Given the description of an element on the screen output the (x, y) to click on. 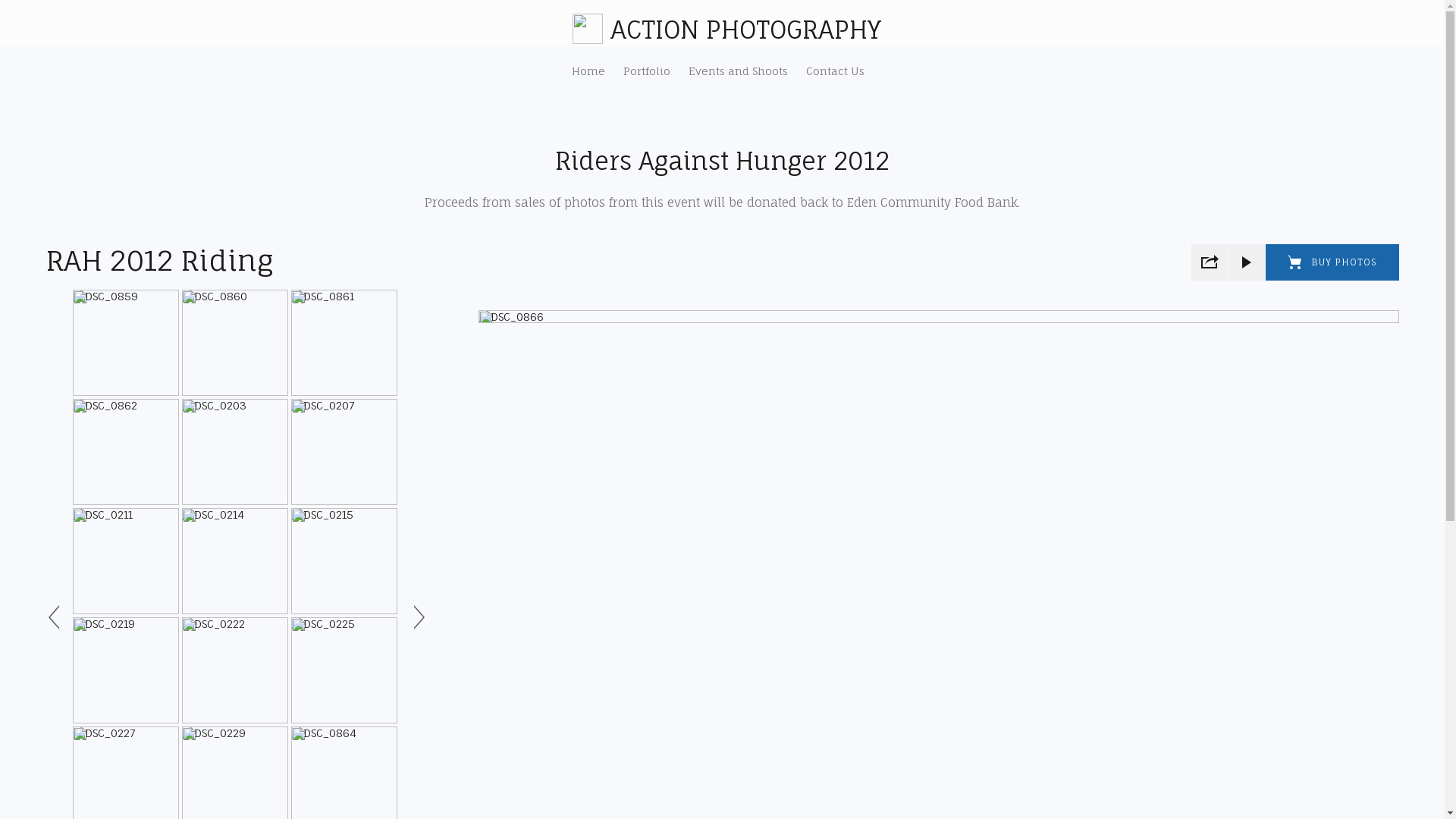
Contact Us Element type: text (834, 70)
Slideshow Element type: hover (1246, 262)
ACTION PHOTOGRAPHY Element type: text (745, 34)
Share Gallery Element type: hover (1209, 262)
Home Element type: text (588, 70)
Events and Shoots Element type: text (737, 70)
Portfolio Element type: text (646, 70)
BUY PHOTOS Element type: text (1332, 262)
